Given the description of an element on the screen output the (x, y) to click on. 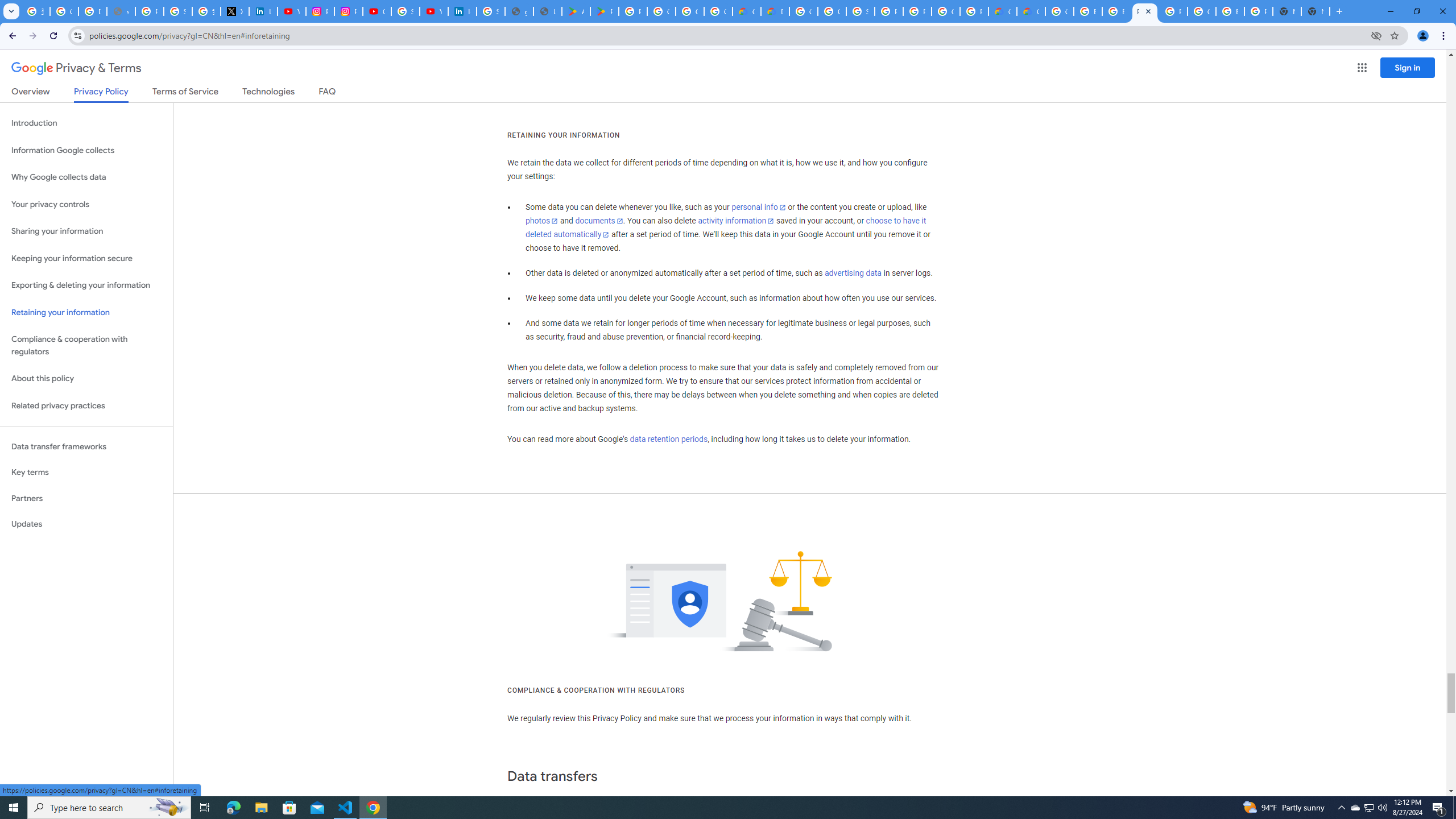
documents (599, 221)
PAW Patrol Rescue World - Apps on Google Play (604, 11)
Android Apps on Google Play (575, 11)
Google Cloud Platform (1201, 11)
Google Cloud Platform (1058, 11)
Related privacy practices (86, 405)
